Given the description of an element on the screen output the (x, y) to click on. 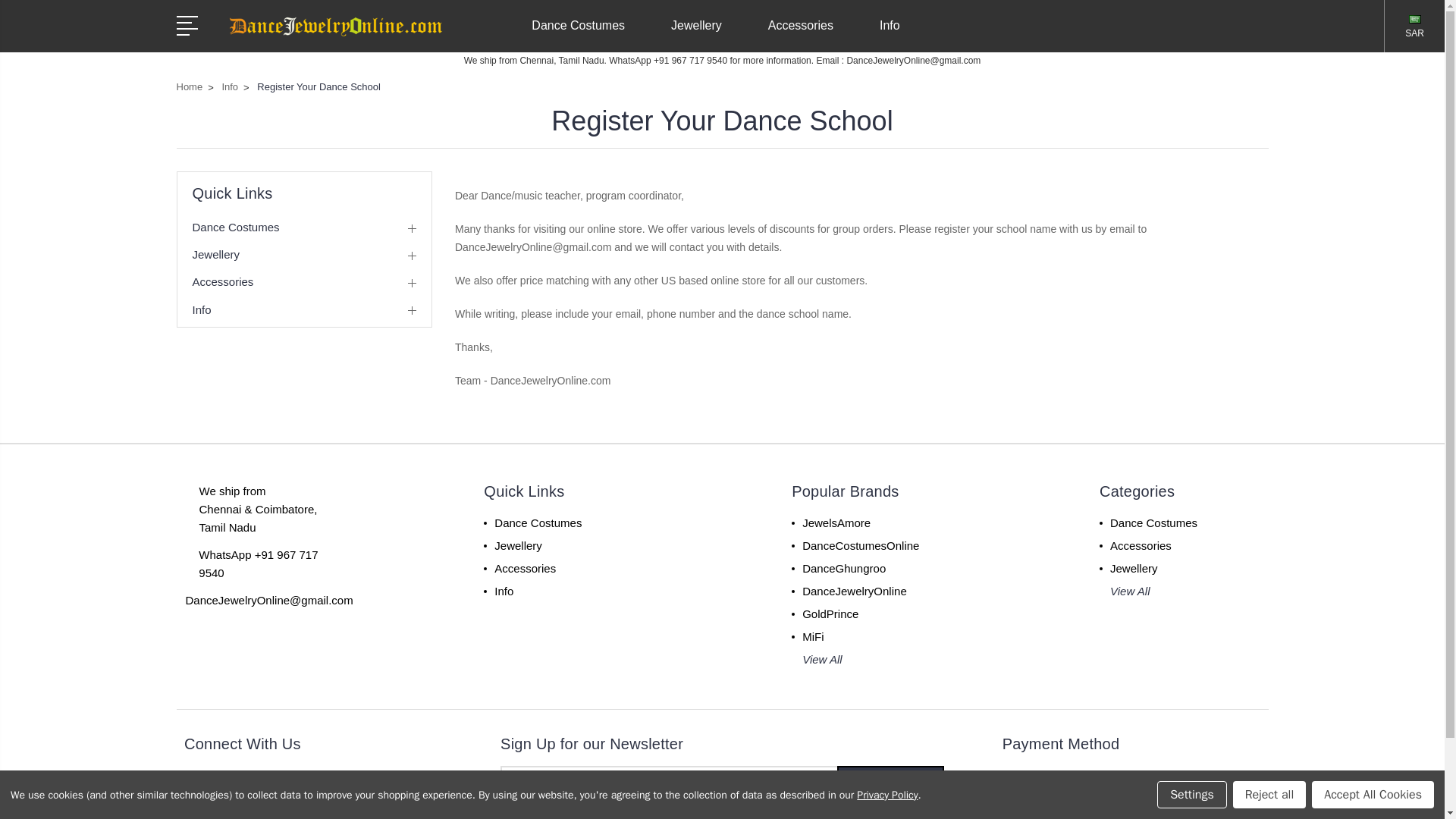
Info (895, 34)
Accessories (806, 34)
Dance Costumes (584, 34)
DanceJewelryOnline.com (334, 26)
Jewellery (703, 34)
submit (890, 784)
